Given the description of an element on the screen output the (x, y) to click on. 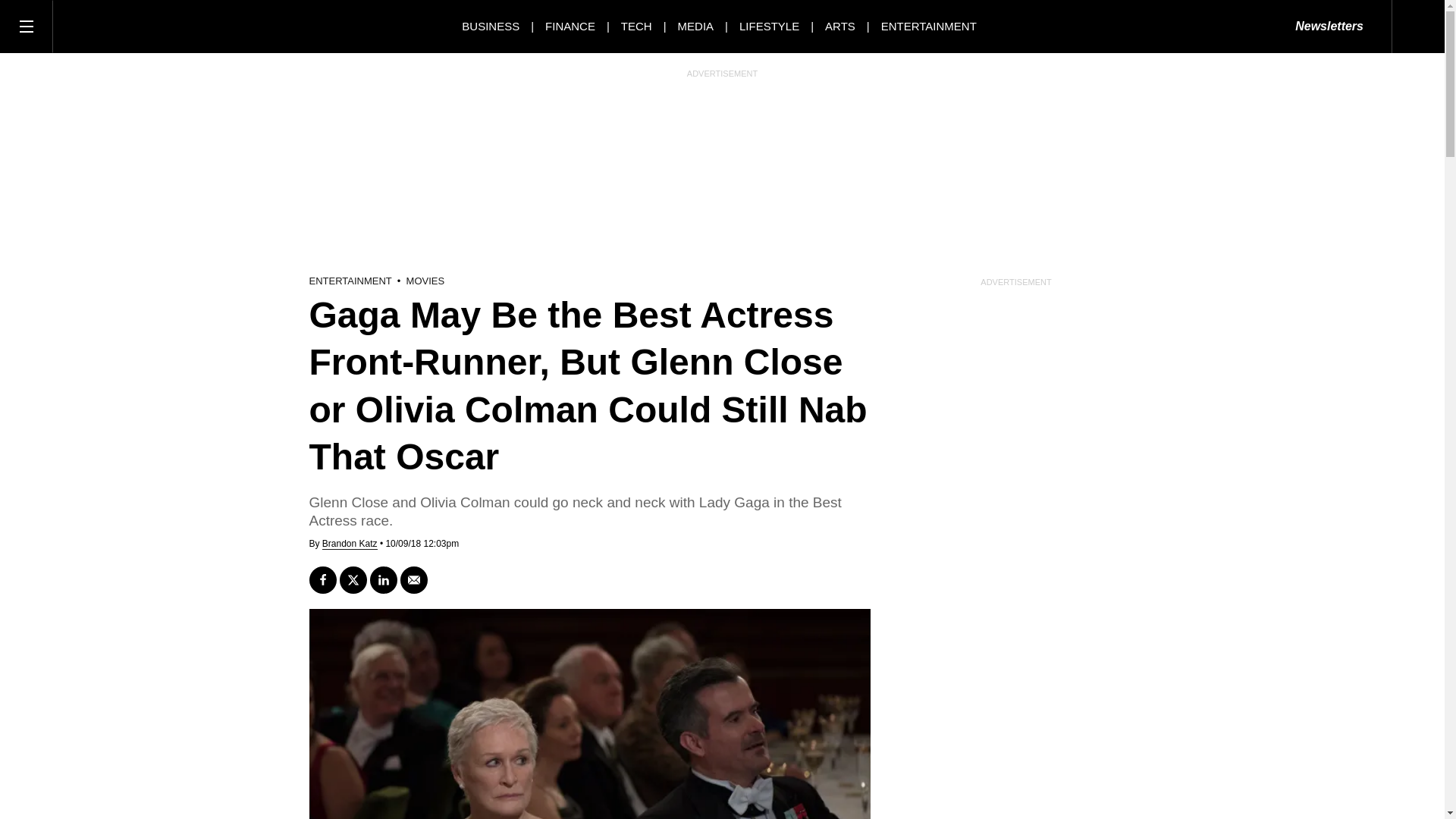
TECH (636, 25)
MEDIA (696, 25)
Observer (121, 26)
Send email (414, 579)
Share on Facebook (322, 579)
View All Posts by Brandon Katz (349, 543)
Share on LinkedIn (383, 579)
ENTERTAINMENT (928, 25)
ARTS (840, 25)
Tweet (352, 579)
Newsletters (1329, 26)
BUSINESS (490, 25)
FINANCE (569, 25)
LIFESTYLE (769, 25)
